Given the description of an element on the screen output the (x, y) to click on. 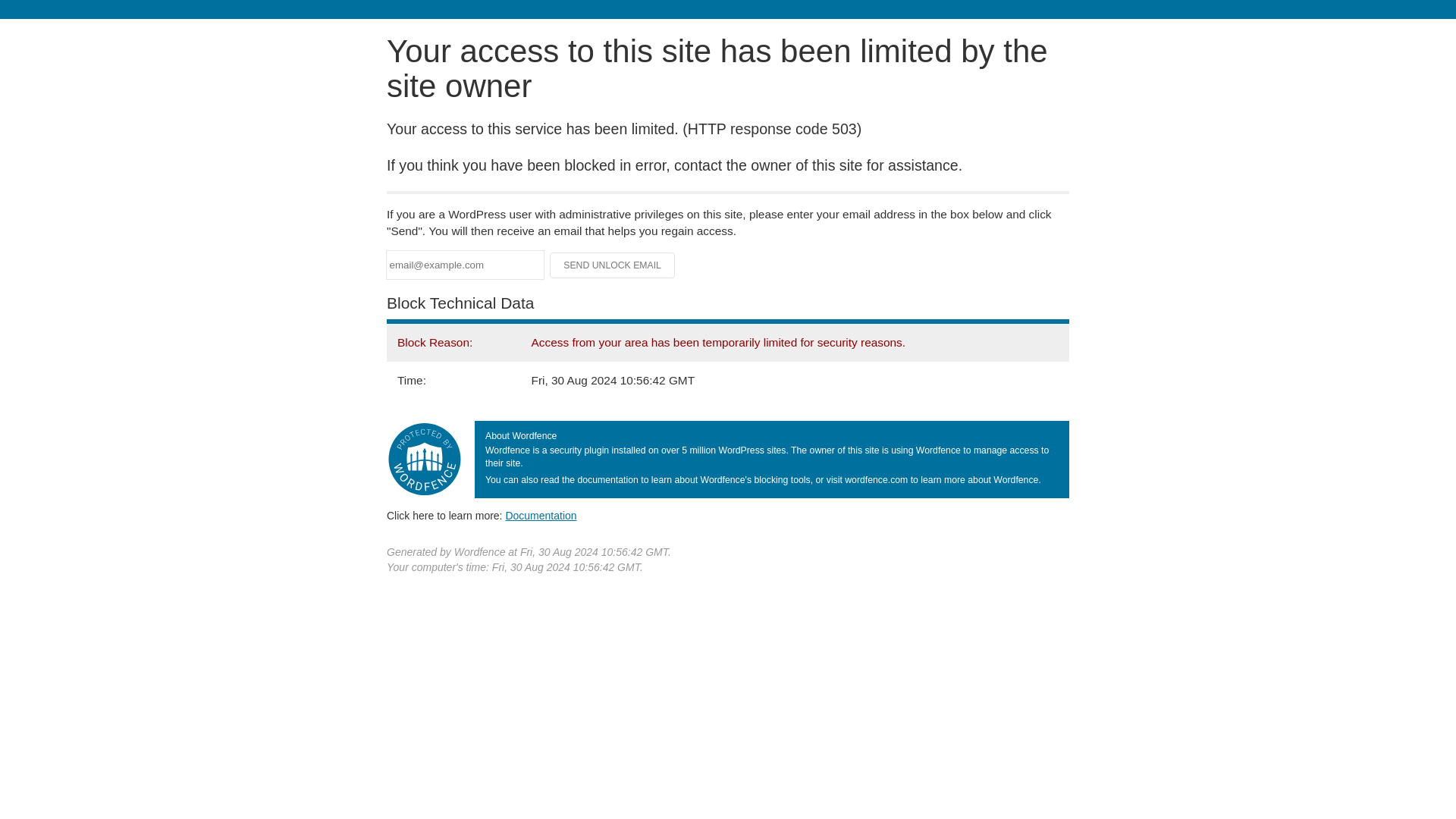
Documentation (540, 515)
Send Unlock Email (612, 265)
Send Unlock Email (612, 265)
